Given the description of an element on the screen output the (x, y) to click on. 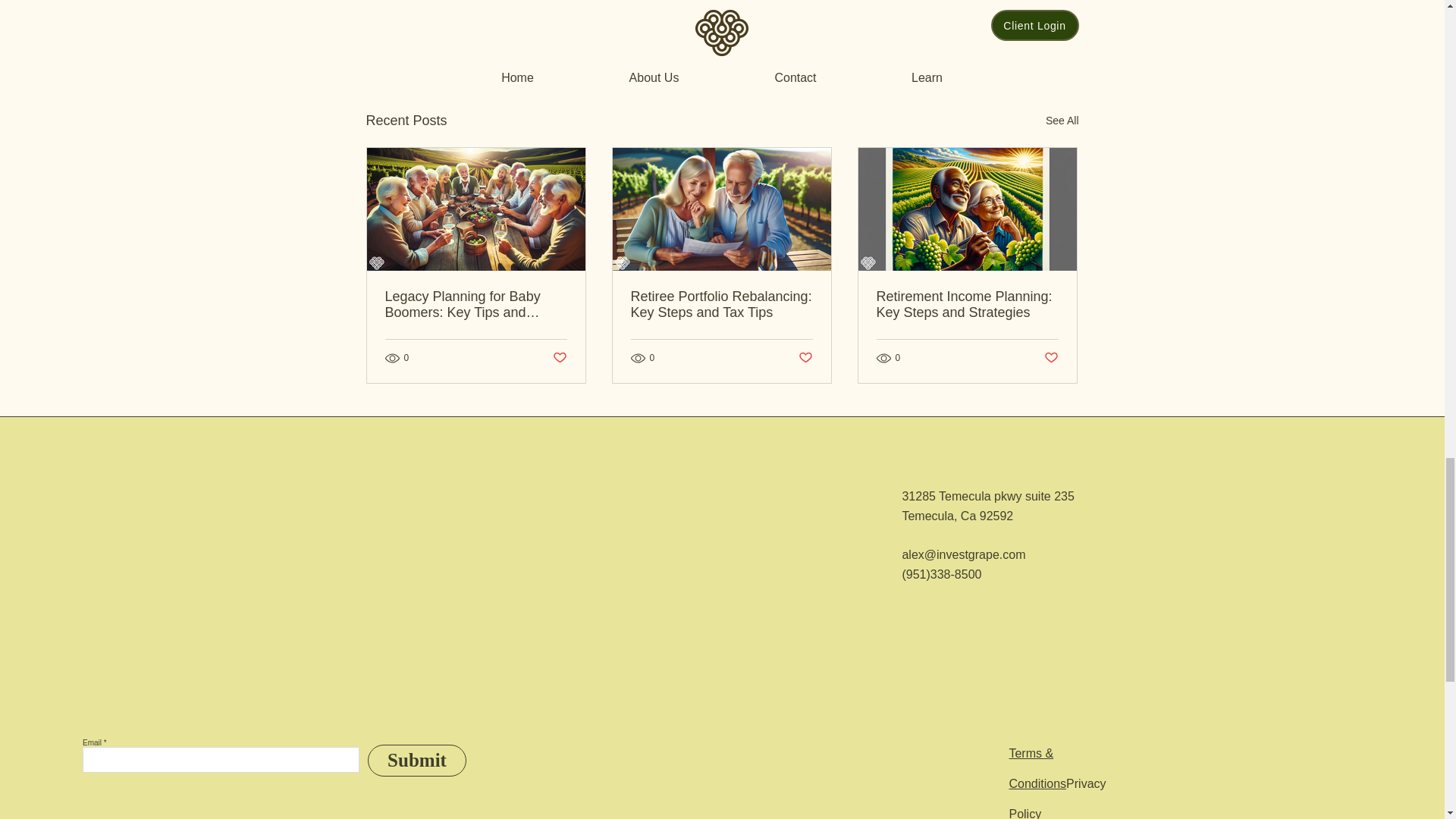
Submit (416, 760)
Legacy Planning for Baby Boomers: Key Tips and Strategies (476, 305)
Post not marked as liked (558, 358)
Retiree Portfolio Rebalancing: Key Steps and Tax Tips (721, 305)
Post not marked as liked (1050, 358)
Post not marked as liked (804, 358)
Post not marked as liked (995, 37)
Privacy Policy (1057, 798)
See All (1061, 120)
Retirement Income Planning: Key Steps and Strategies (967, 305)
